Given the description of an element on the screen output the (x, y) to click on. 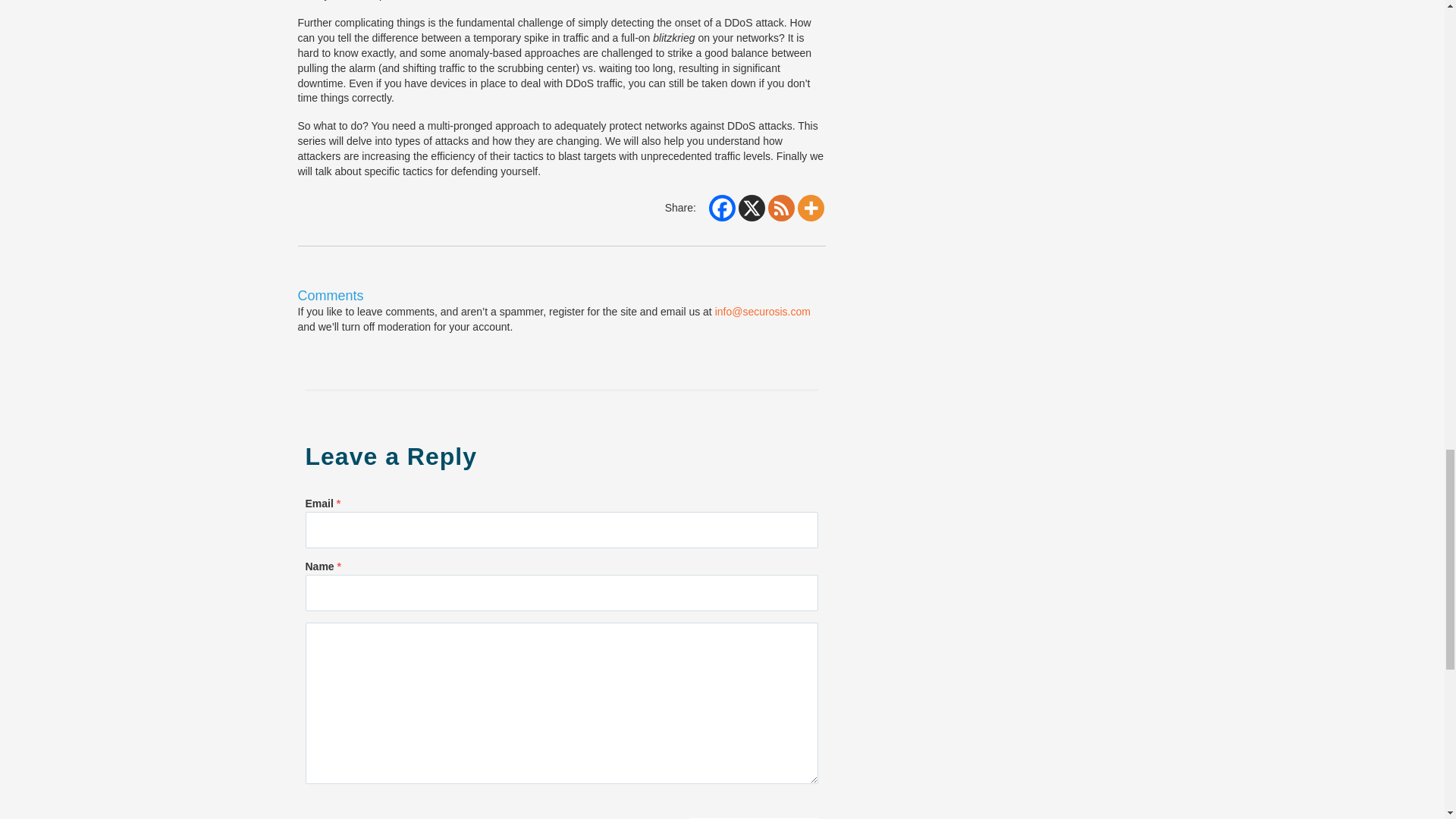
Facebook (722, 207)
X (751, 207)
More (810, 207)
RSS Feed (781, 207)
